Given the description of an element on the screen output the (x, y) to click on. 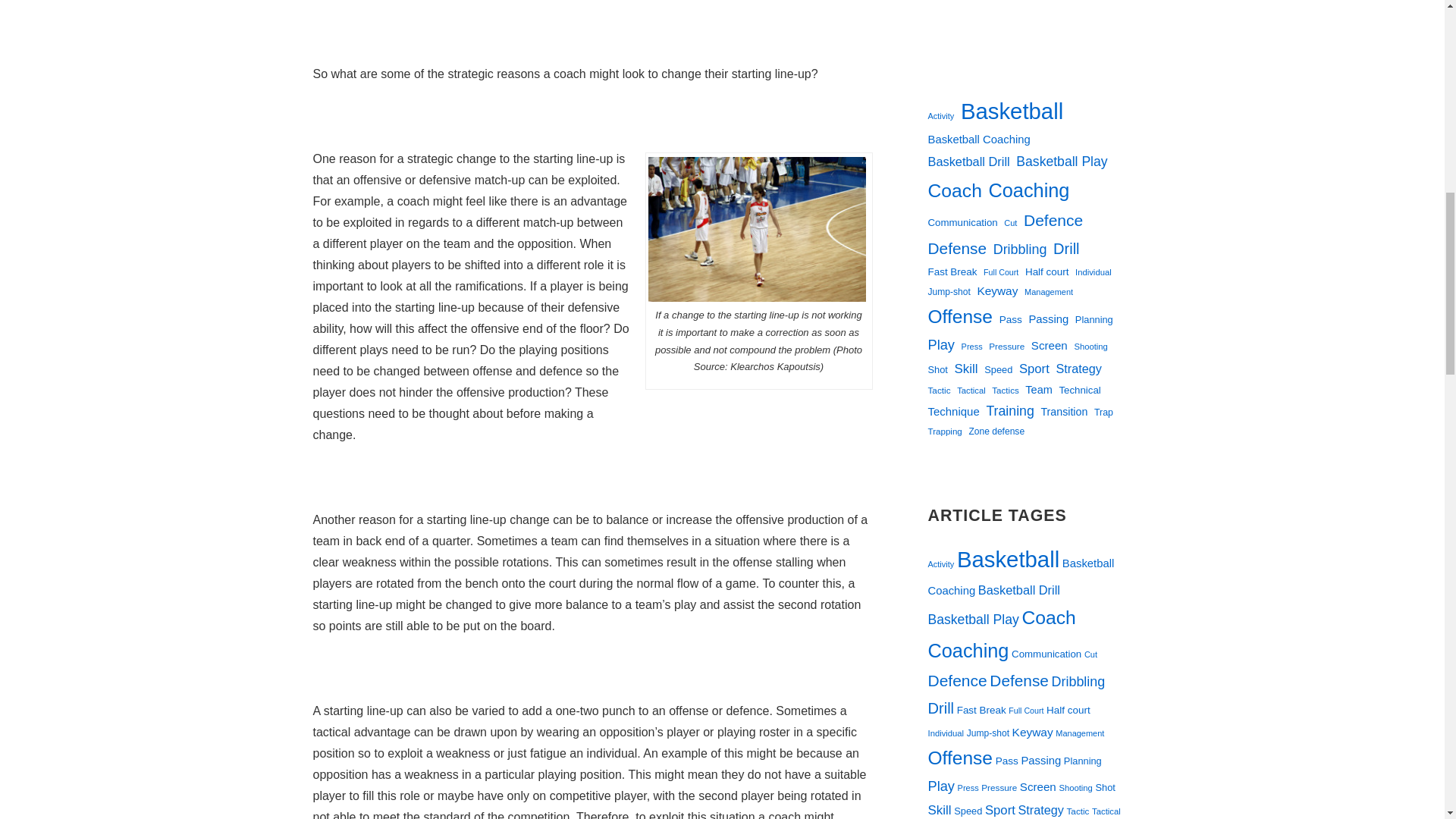
Advertisement (592, 21)
